Given the description of an element on the screen output the (x, y) to click on. 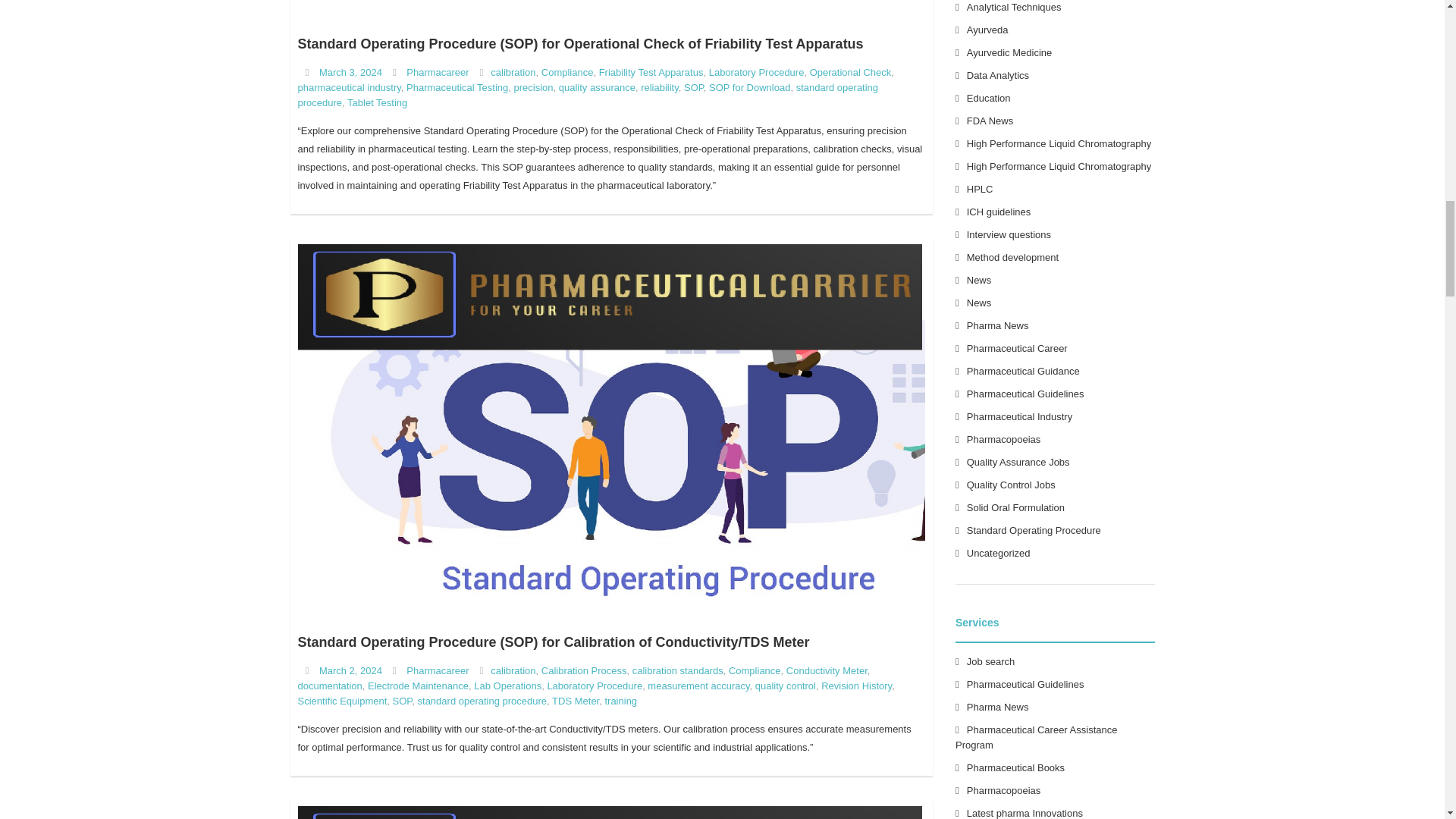
View all posts by Pharmacareer (437, 670)
10:54 am (349, 71)
5:47 pm (349, 670)
View all posts by Pharmacareer (437, 71)
